Given the description of an element on the screen output the (x, y) to click on. 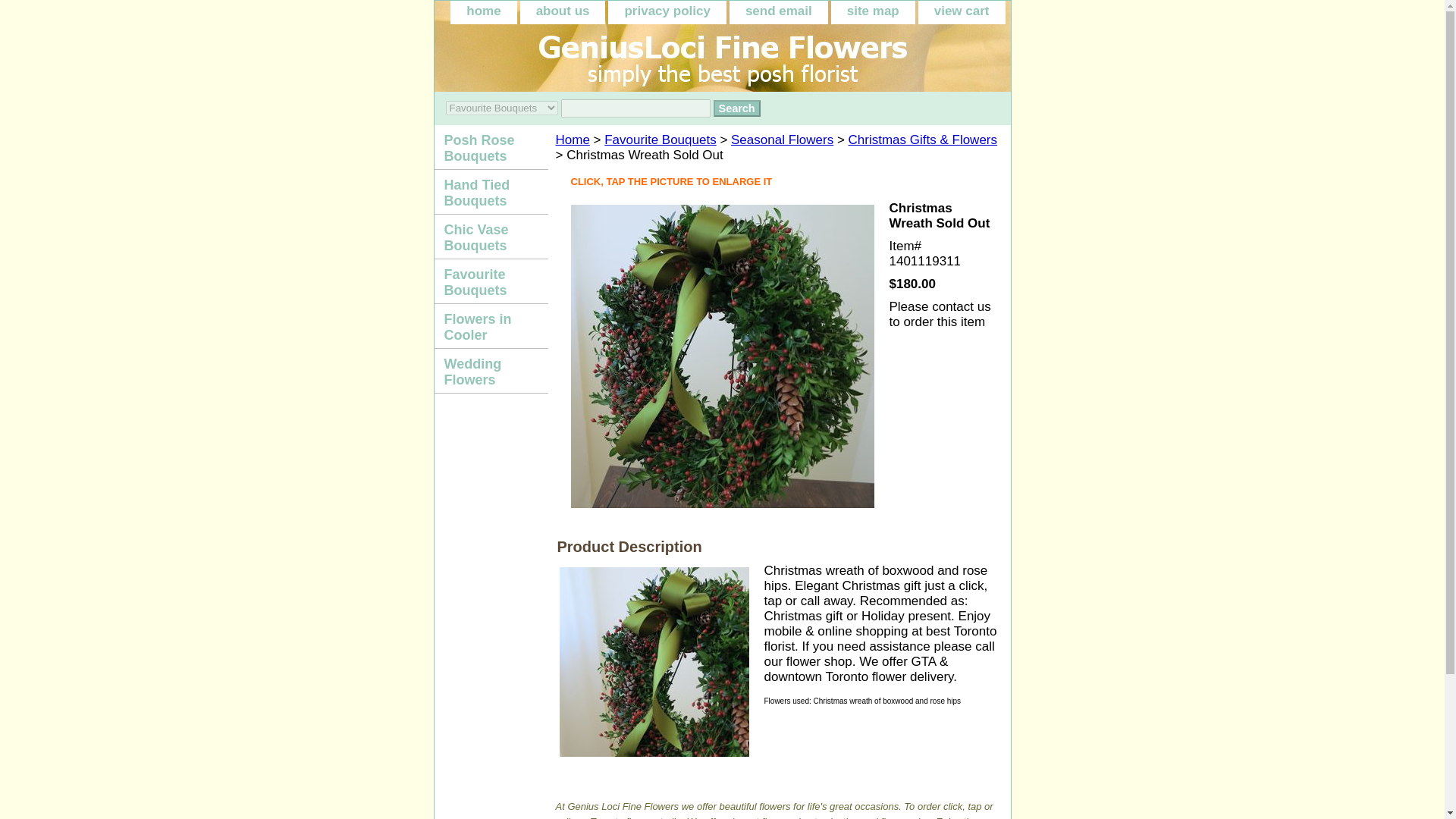
Favourite Bouquets (660, 139)
Search (736, 108)
about us (563, 11)
home (483, 11)
Chic Vase Bouquets (490, 236)
view cart (961, 11)
Posh Rose Bouquets (490, 147)
privacy policy (666, 11)
Christmas Wreath Sold Out (653, 661)
Hand Tied Bouquets (490, 191)
Hand Tied Bouquets (490, 191)
Seasonal Flowers (781, 139)
Chic Vase Bouquets (490, 236)
Wedding Flowers (490, 370)
Favourite Bouquets (490, 281)
